Given the description of an element on the screen output the (x, y) to click on. 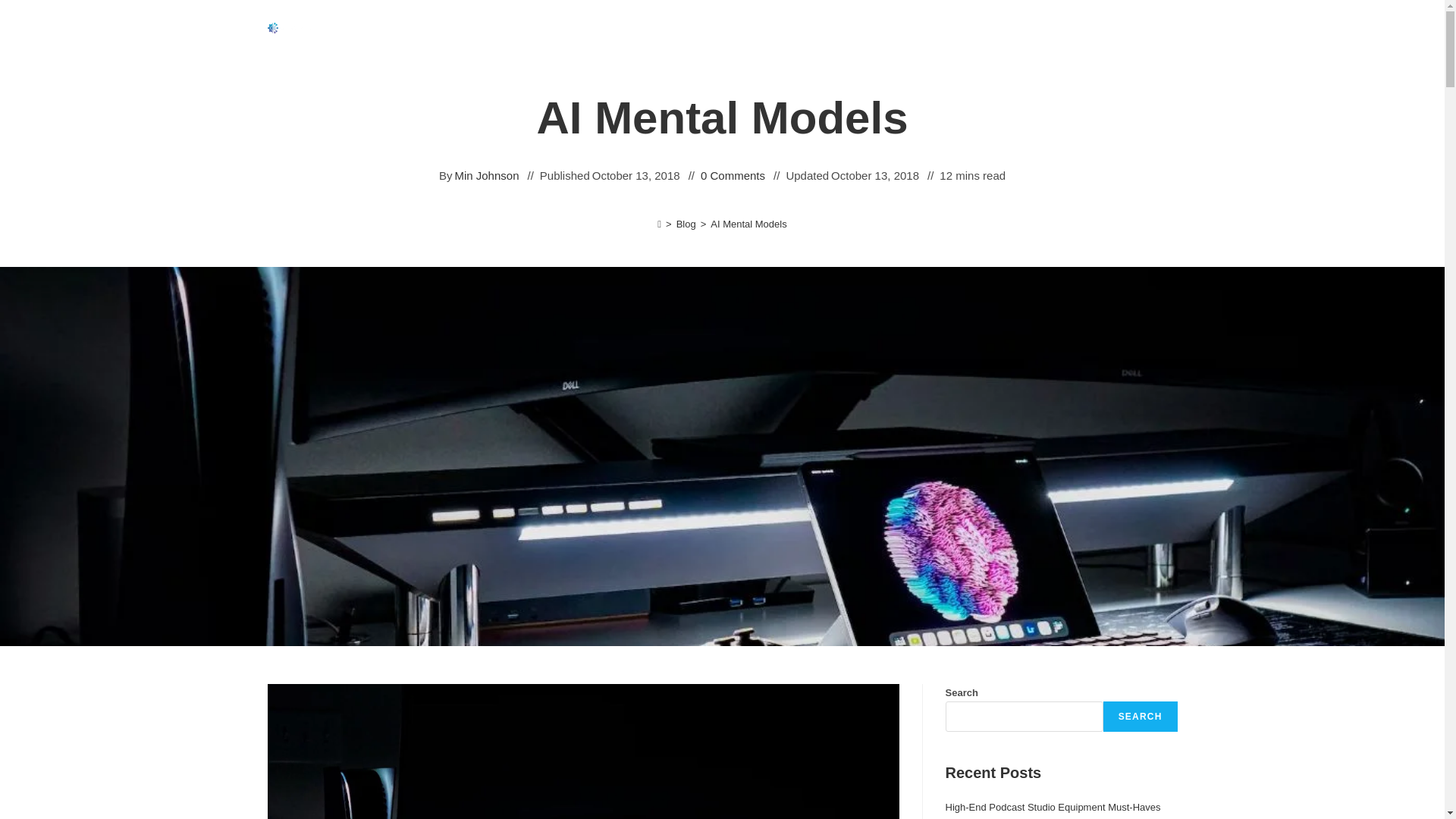
Blog (686, 224)
AI Mental Models (748, 224)
Min Johnson (486, 175)
0 Comments (732, 175)
